Given the description of an element on the screen output the (x, y) to click on. 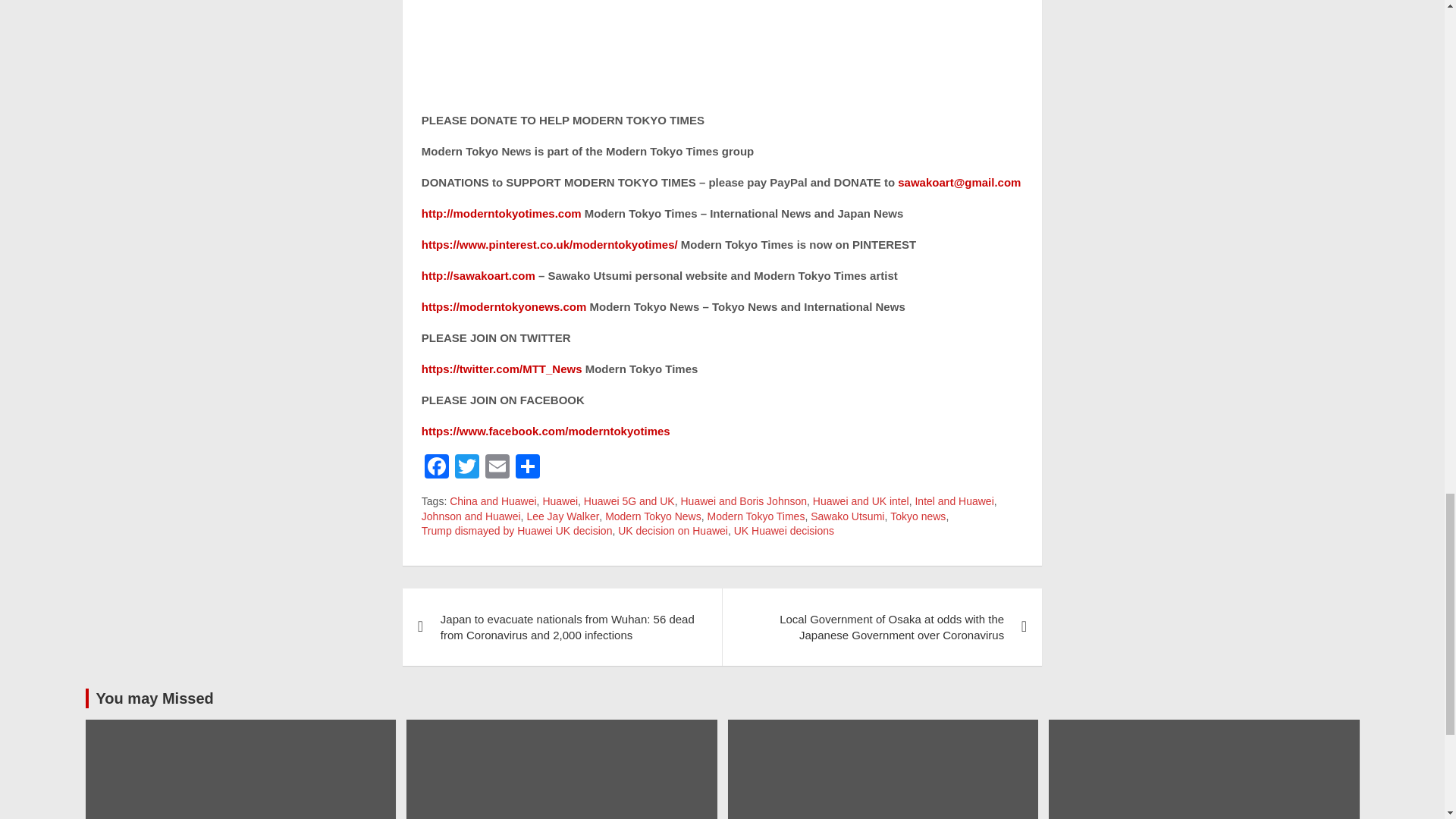
Email (496, 468)
Huawei (559, 501)
Facebook (436, 468)
Facebook (436, 468)
Share (527, 468)
Twitter (466, 468)
Twitter (466, 468)
Email (496, 468)
Huawei and Boris Johnson (742, 501)
Huawei 5G and UK (629, 501)
Huawei and UK intel (860, 501)
China and Huawei (492, 501)
